Given the description of an element on the screen output the (x, y) to click on. 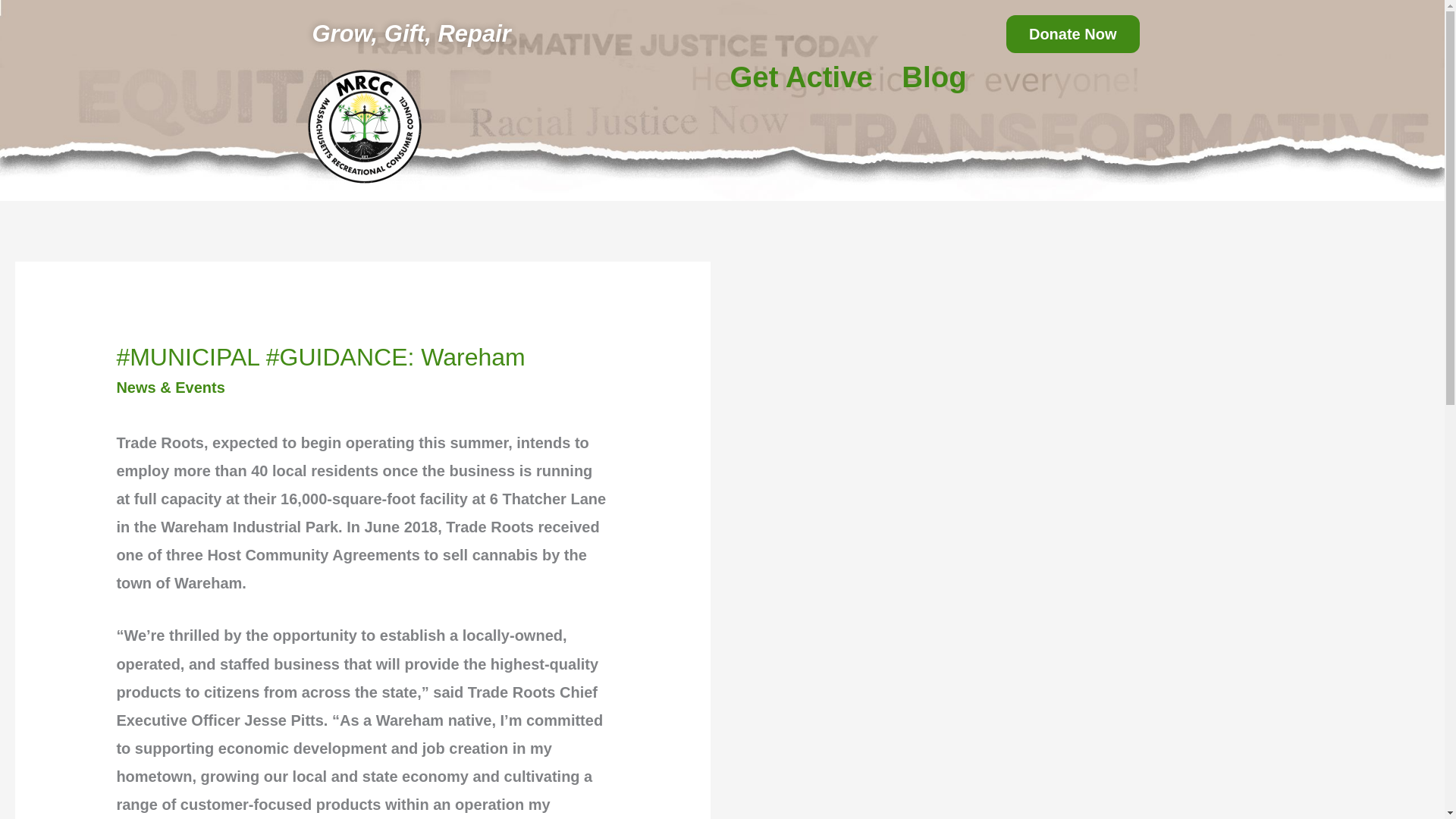
Donate Now (1073, 34)
